Given the description of an element on the screen output the (x, y) to click on. 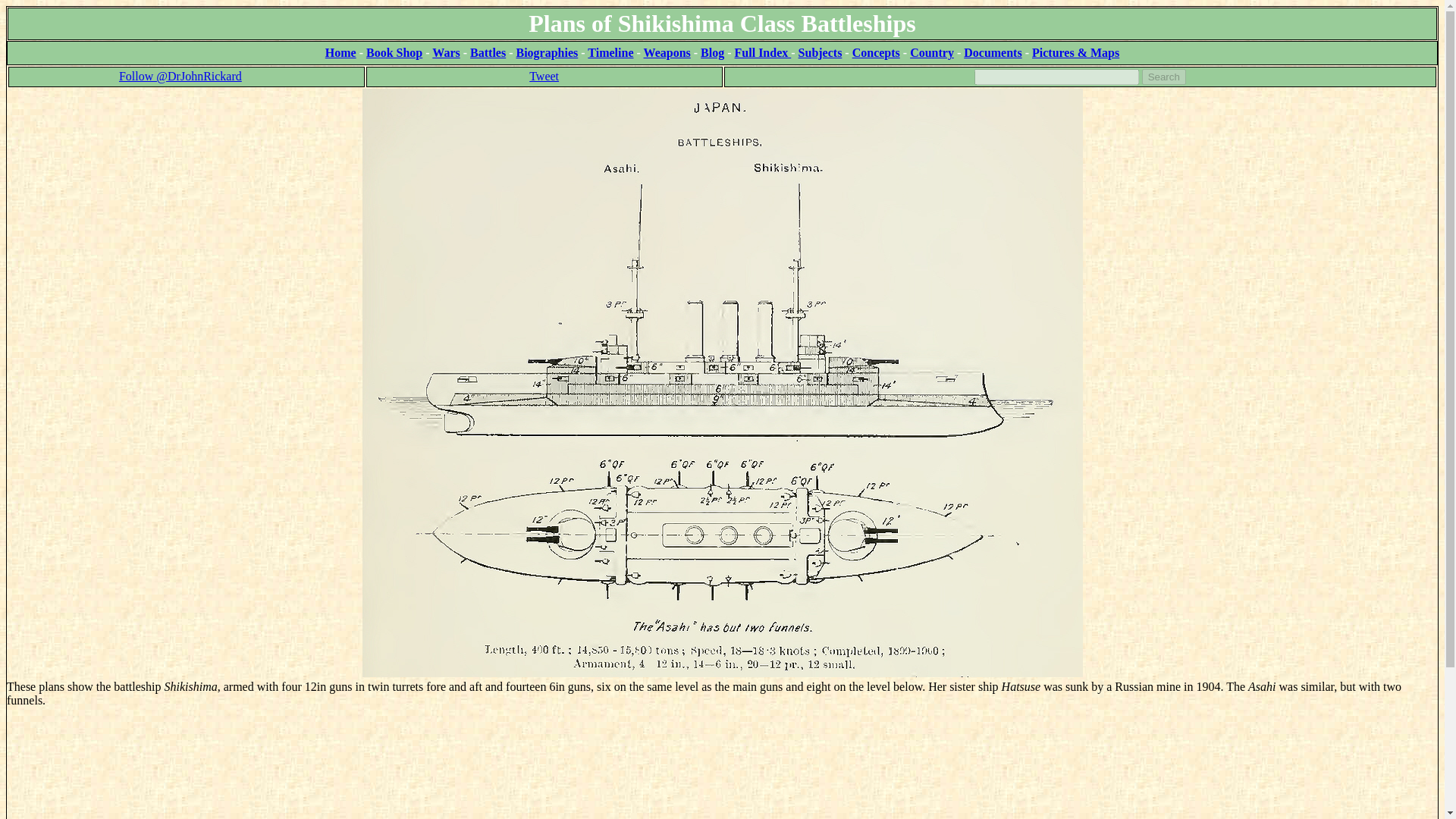
Link to our blog (711, 51)
Home (340, 51)
Index of articles on Battles (487, 51)
Index of articles on Weapons and military units (666, 51)
Index of articles on military concepts (875, 51)
Book Shop (394, 51)
Index of biographies (546, 51)
Timeline of Military History (610, 51)
Index of articles on Wars (446, 51)
Weapons (666, 51)
